Given the description of an element on the screen output the (x, y) to click on. 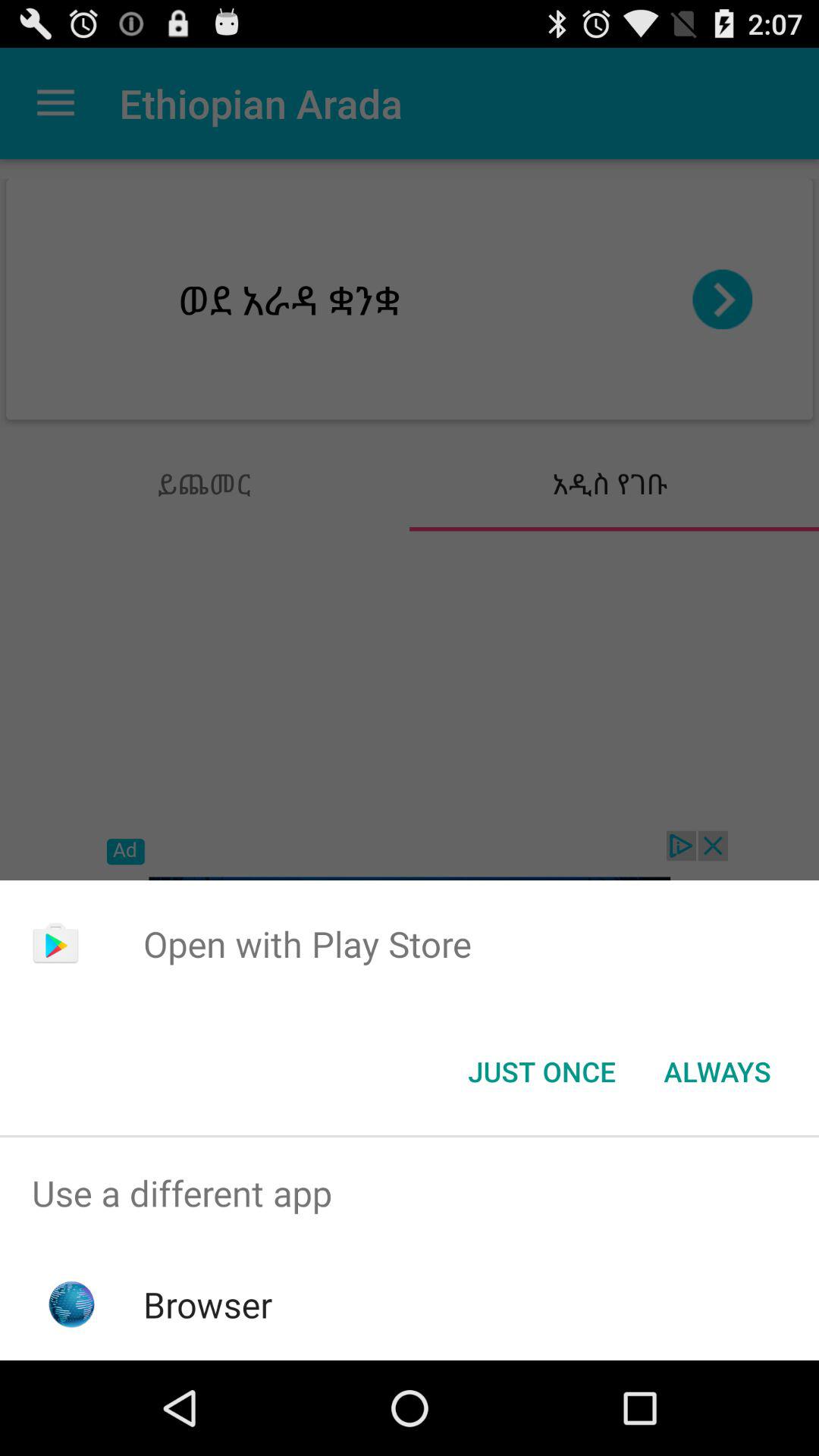
scroll until the just once button (541, 1071)
